Given the description of an element on the screen output the (x, y) to click on. 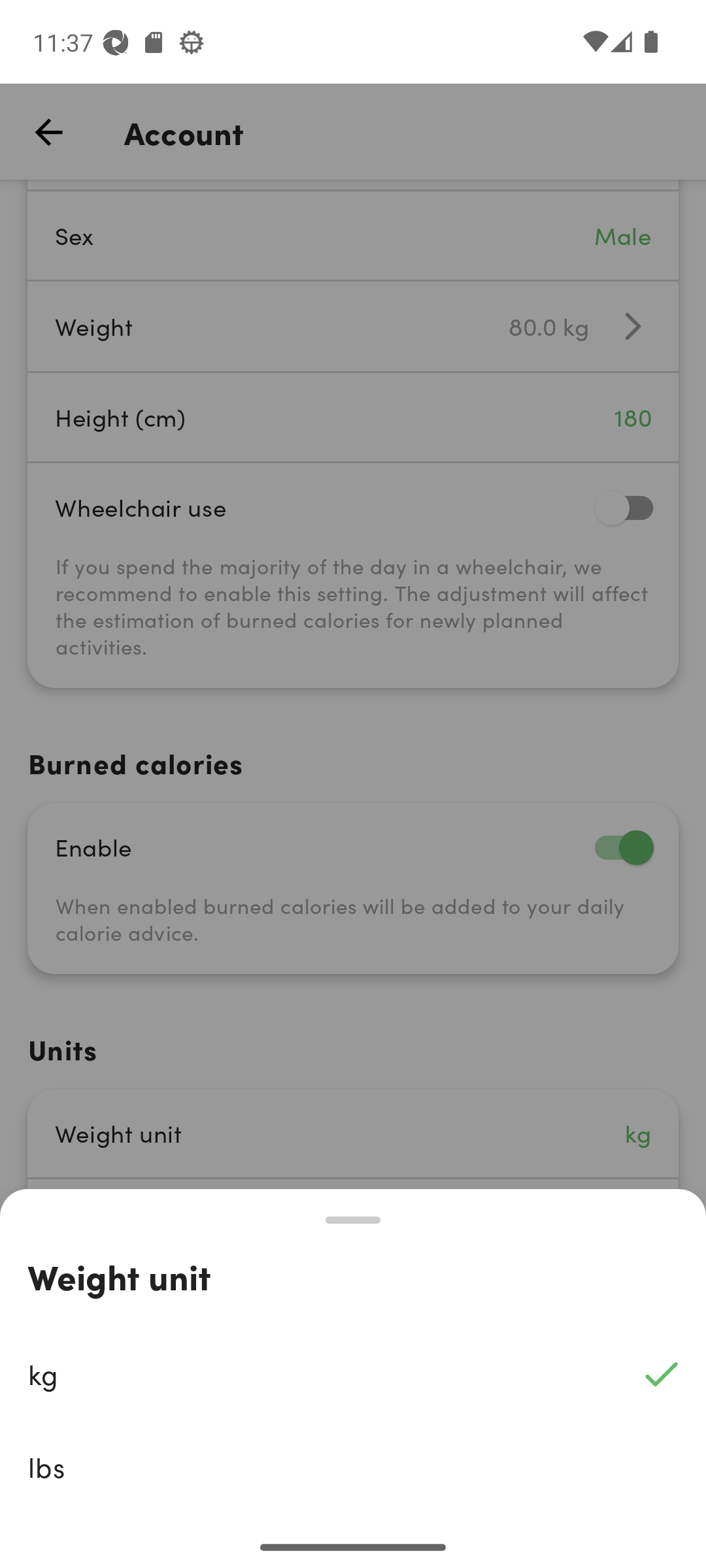
bottom_sheet_option lbs bottom_sheet_option_text (353, 1466)
